Given the description of an element on the screen output the (x, y) to click on. 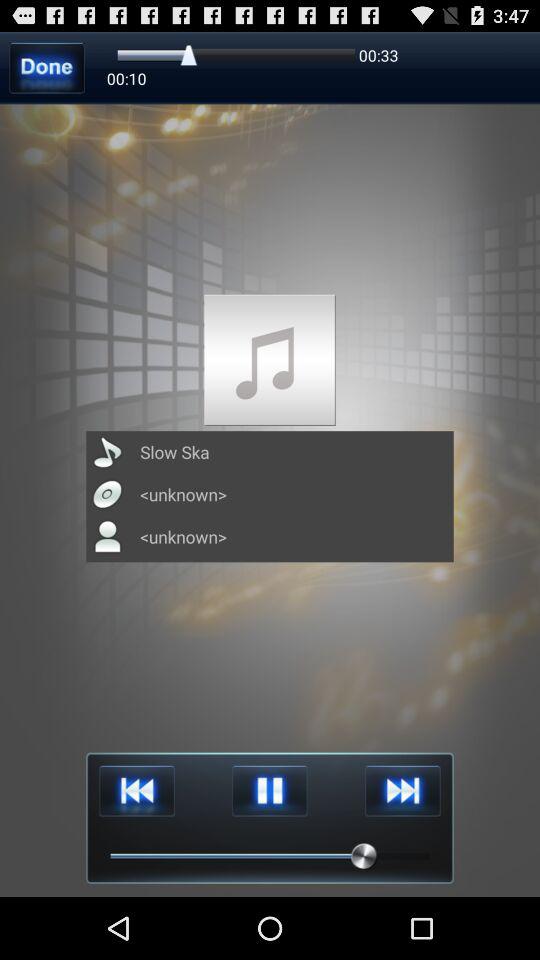
next song (402, 790)
